Given the description of an element on the screen output the (x, y) to click on. 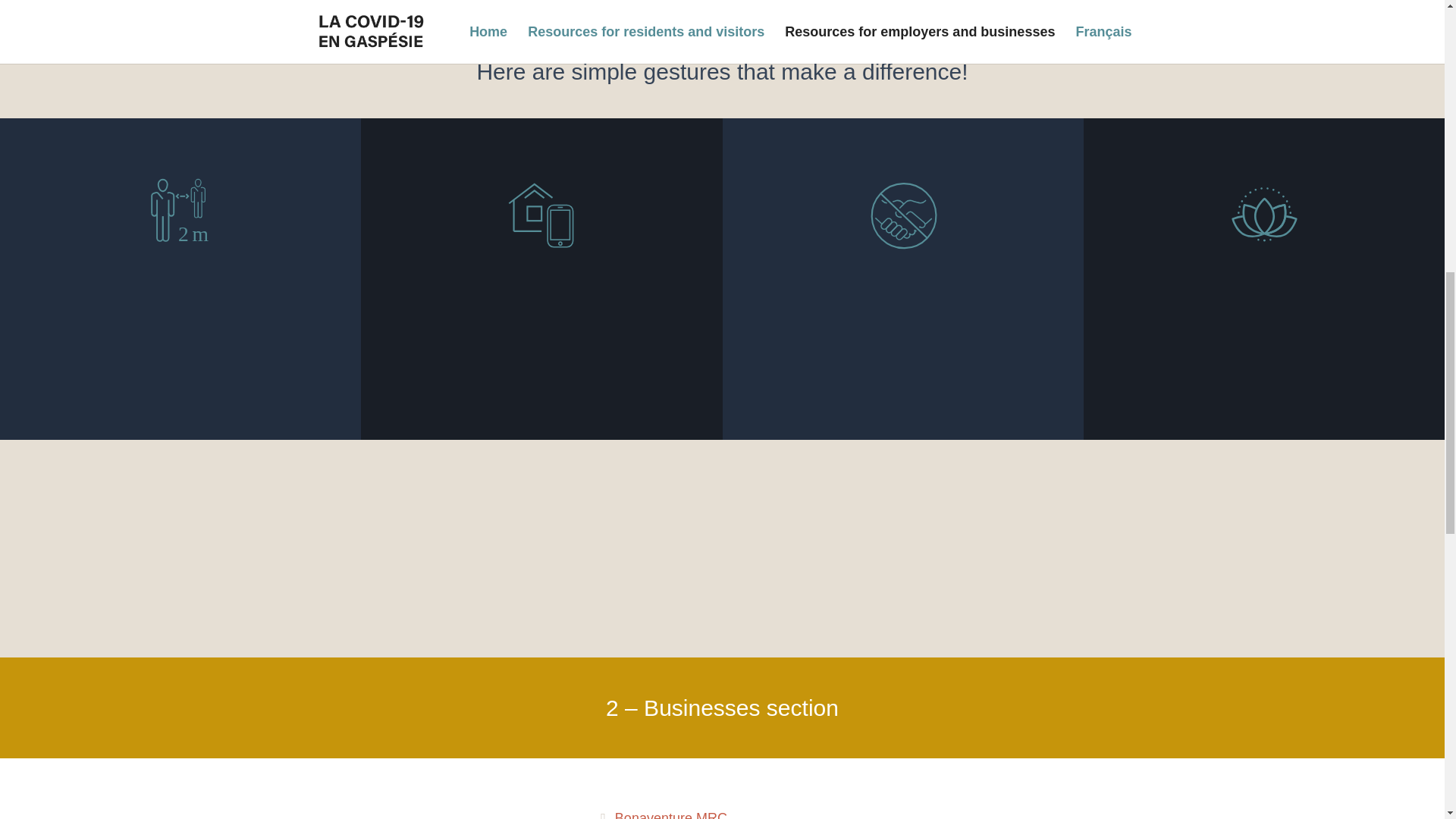
distance-2-m (180, 210)
Bonaventure MRC (662, 814)
telecommuting (541, 214)
avoid-contact (902, 214)
Bonaventure MRC (662, 814)
relaxed-atmosphere (1263, 214)
